Given the description of an element on the screen output the (x, y) to click on. 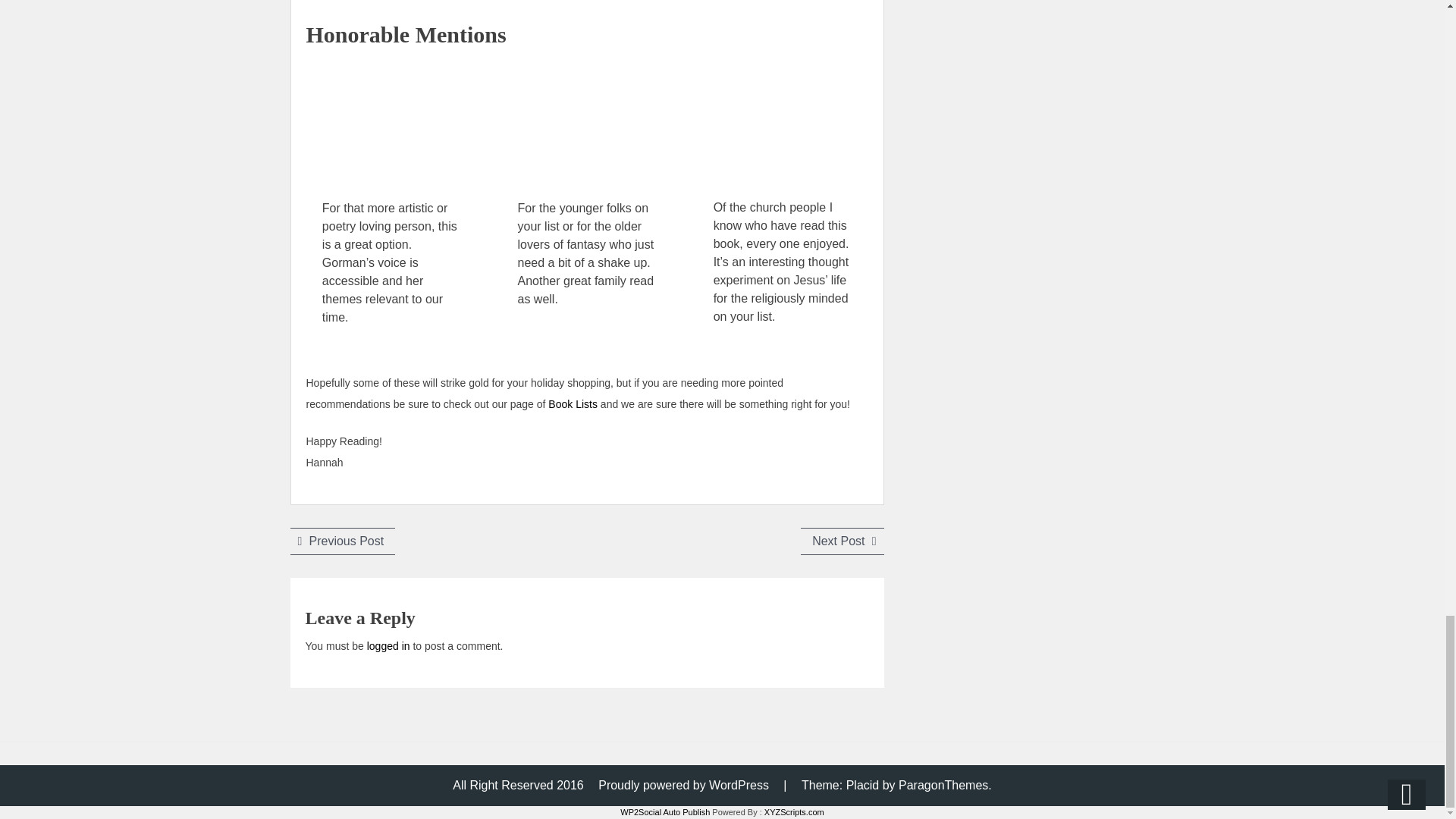
WP2Social Auto Publish (341, 541)
Book Lists (841, 541)
logged in (665, 811)
